Given the description of an element on the screen output the (x, y) to click on. 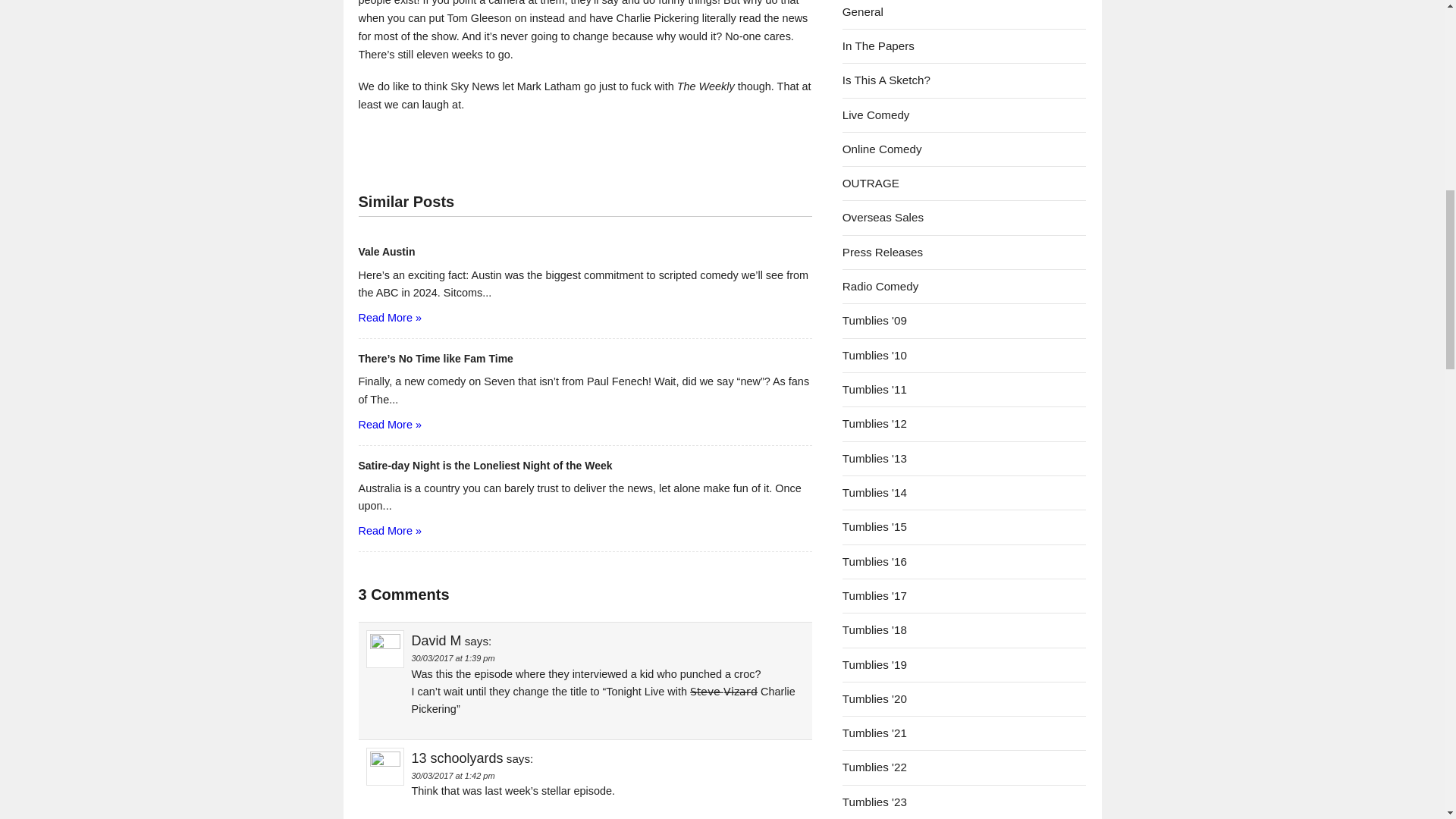
Live Comedy (876, 114)
General (863, 11)
In The Papers (878, 45)
Is This A Sketch? (886, 79)
OUTRAGE (871, 182)
Overseas Sales (883, 216)
Online Comedy (882, 148)
